Given the description of an element on the screen output the (x, y) to click on. 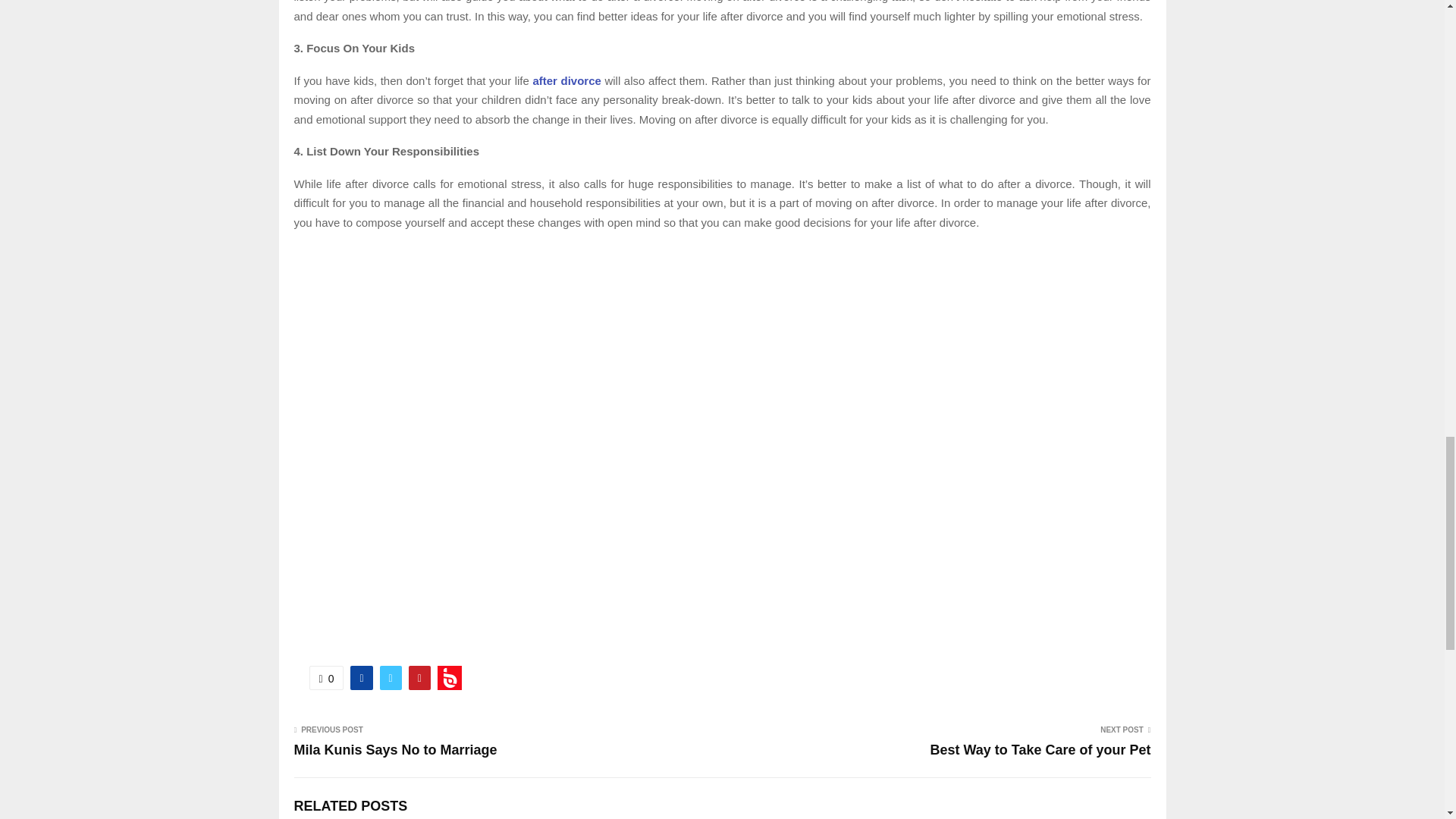
after divorce (565, 80)
Divorce Effects on Kids (565, 80)
Mila Kunis Says No to Marriage (395, 749)
0 (325, 677)
Like (325, 677)
Best Way to Take Care of your Pet (1040, 749)
